Given the description of an element on the screen output the (x, y) to click on. 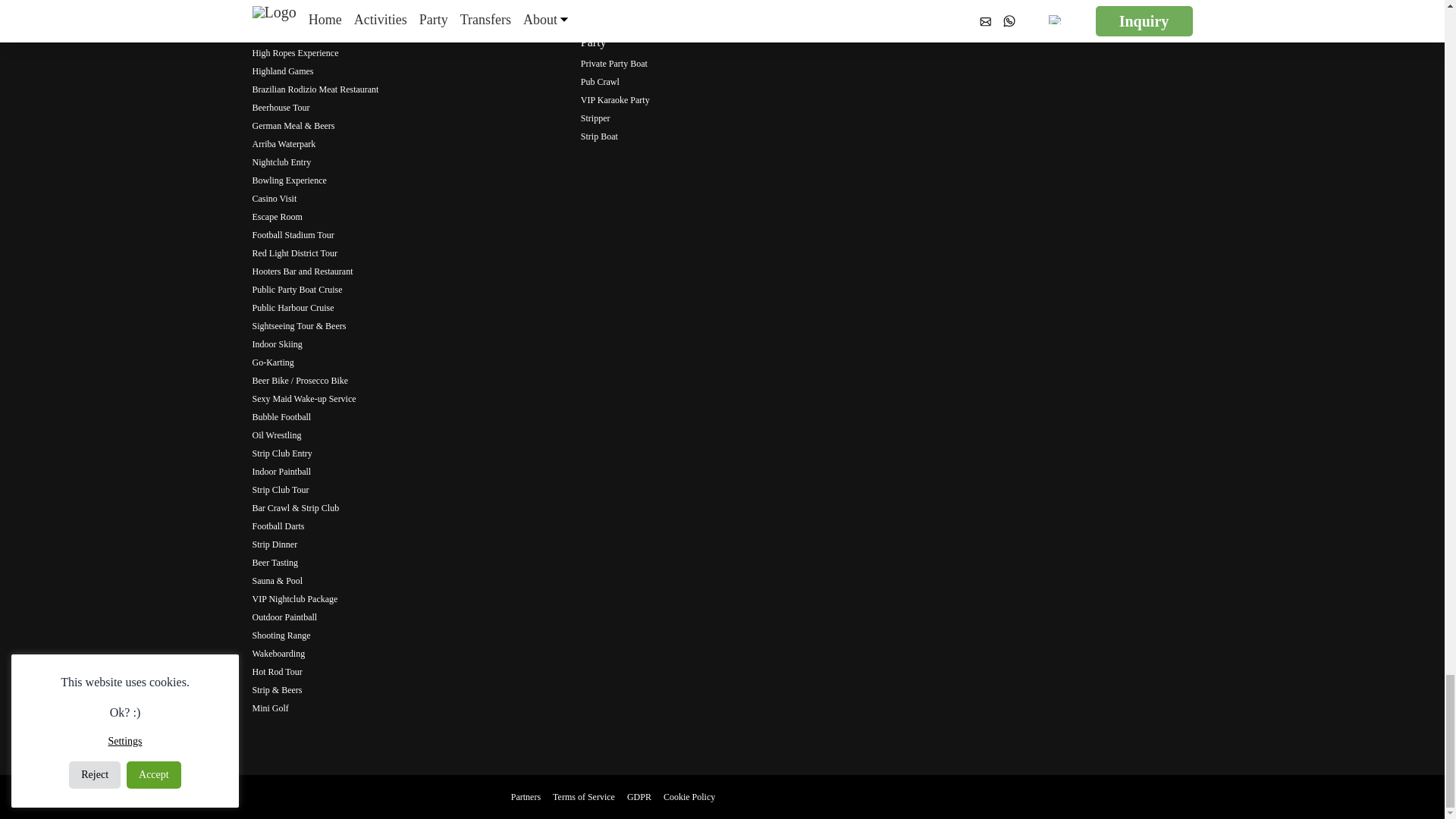
Dutch (825, 796)
Spanish (877, 796)
Swedish (903, 796)
Italian (852, 796)
French (774, 796)
Russian (929, 796)
German (800, 796)
